Given the description of an element on the screen output the (x, y) to click on. 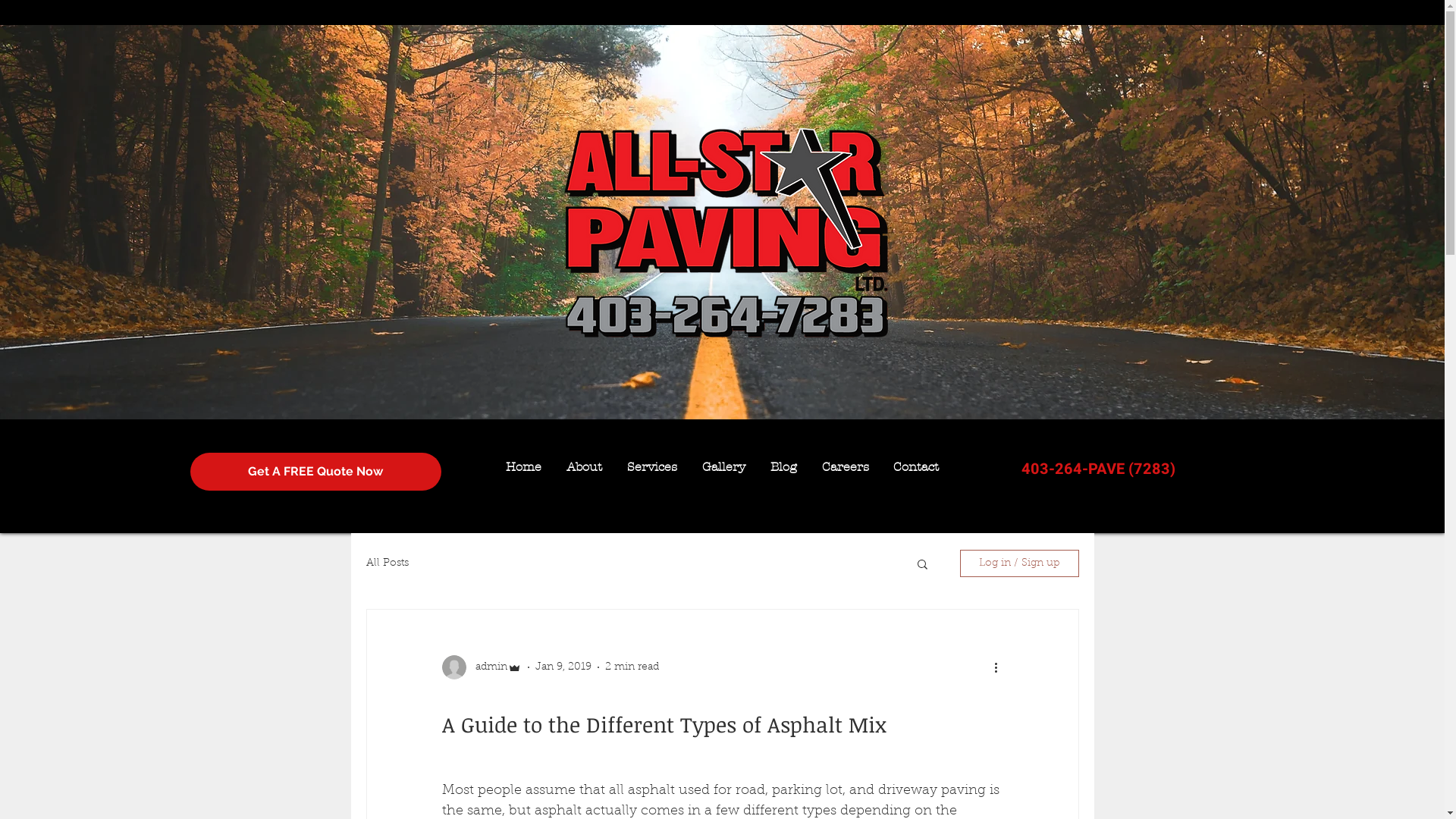
About Element type: text (583, 466)
ALLSTAR LOGO.png Element type: hover (729, 234)
Home Element type: text (522, 466)
Gallery Element type: text (724, 466)
403-264-PAVE (7283) Element type: text (1097, 469)
Careers Element type: text (845, 466)
Blog Element type: text (783, 466)
Contact Element type: text (915, 466)
Services Element type: text (651, 466)
All Posts Element type: text (386, 562)
Get A FREE Quote Now Element type: text (314, 471)
Log in / Sign up Element type: text (1019, 563)
